Given the description of an element on the screen output the (x, y) to click on. 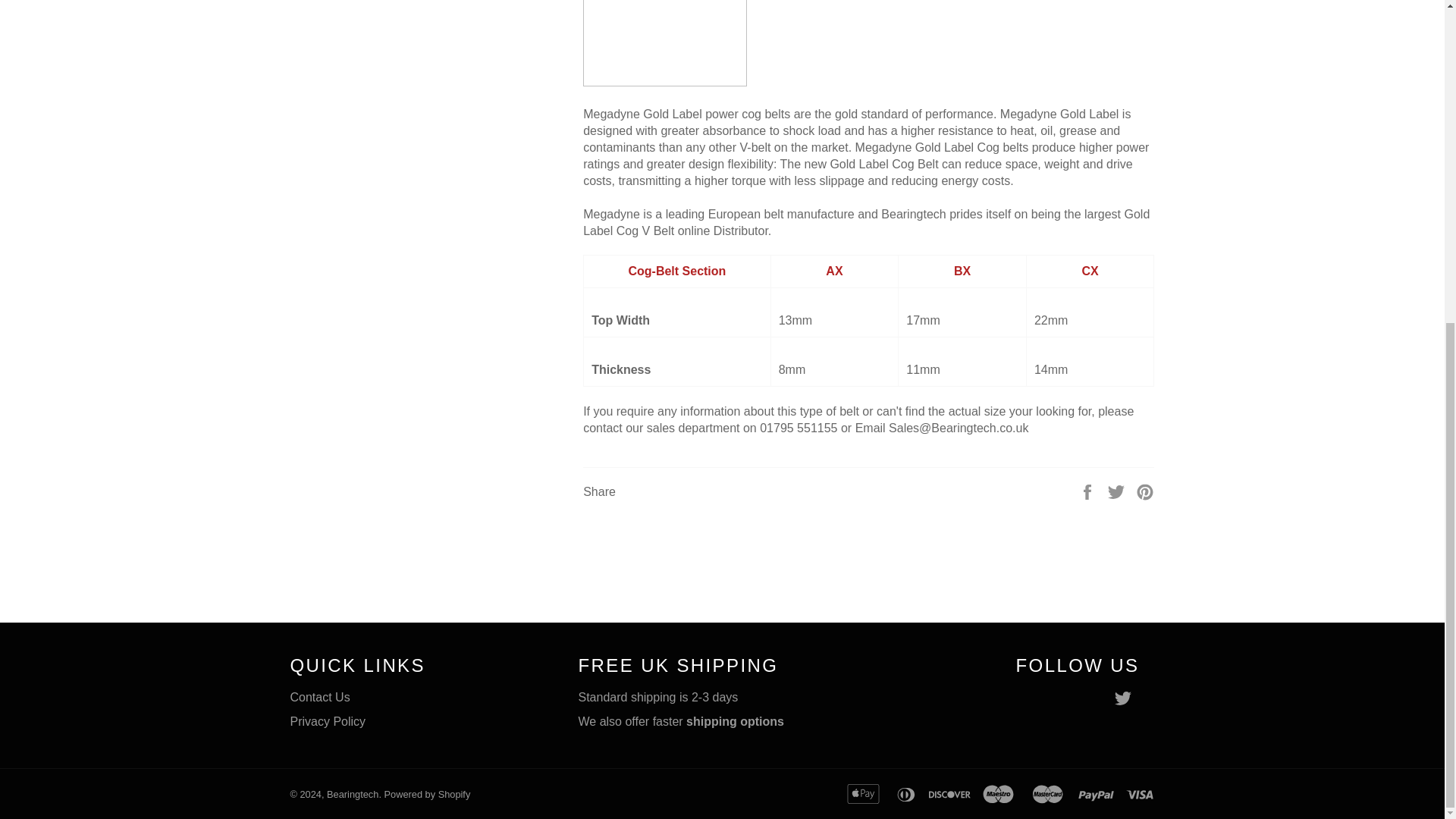
Pin on Pinterest (1144, 491)
Tweet on Twitter (1117, 491)
Share on Facebook (1088, 491)
Bearingtech on Twitter (1125, 698)
Free Uk Shipping (736, 721)
